Given the description of an element on the screen output the (x, y) to click on. 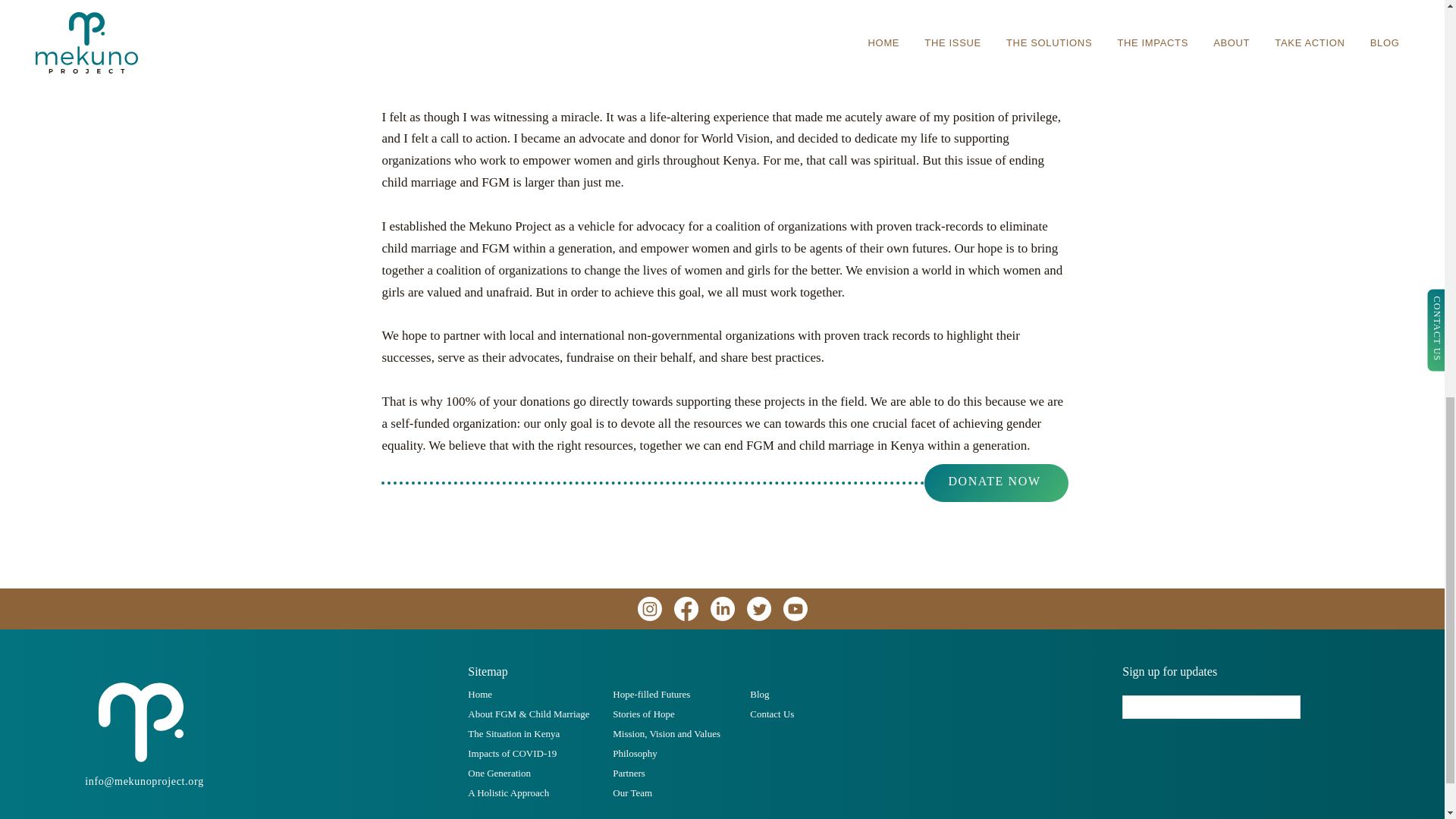
Hope-filled Futures (651, 694)
Mission, Vision and Values (666, 733)
DONATE NOW (995, 483)
Home (479, 694)
The Situation in Kenya (513, 733)
Partners (628, 772)
Blog (758, 694)
Impacts of COVID-19 (511, 753)
Philosophy (635, 753)
One Generation (499, 772)
